Given the description of an element on the screen output the (x, y) to click on. 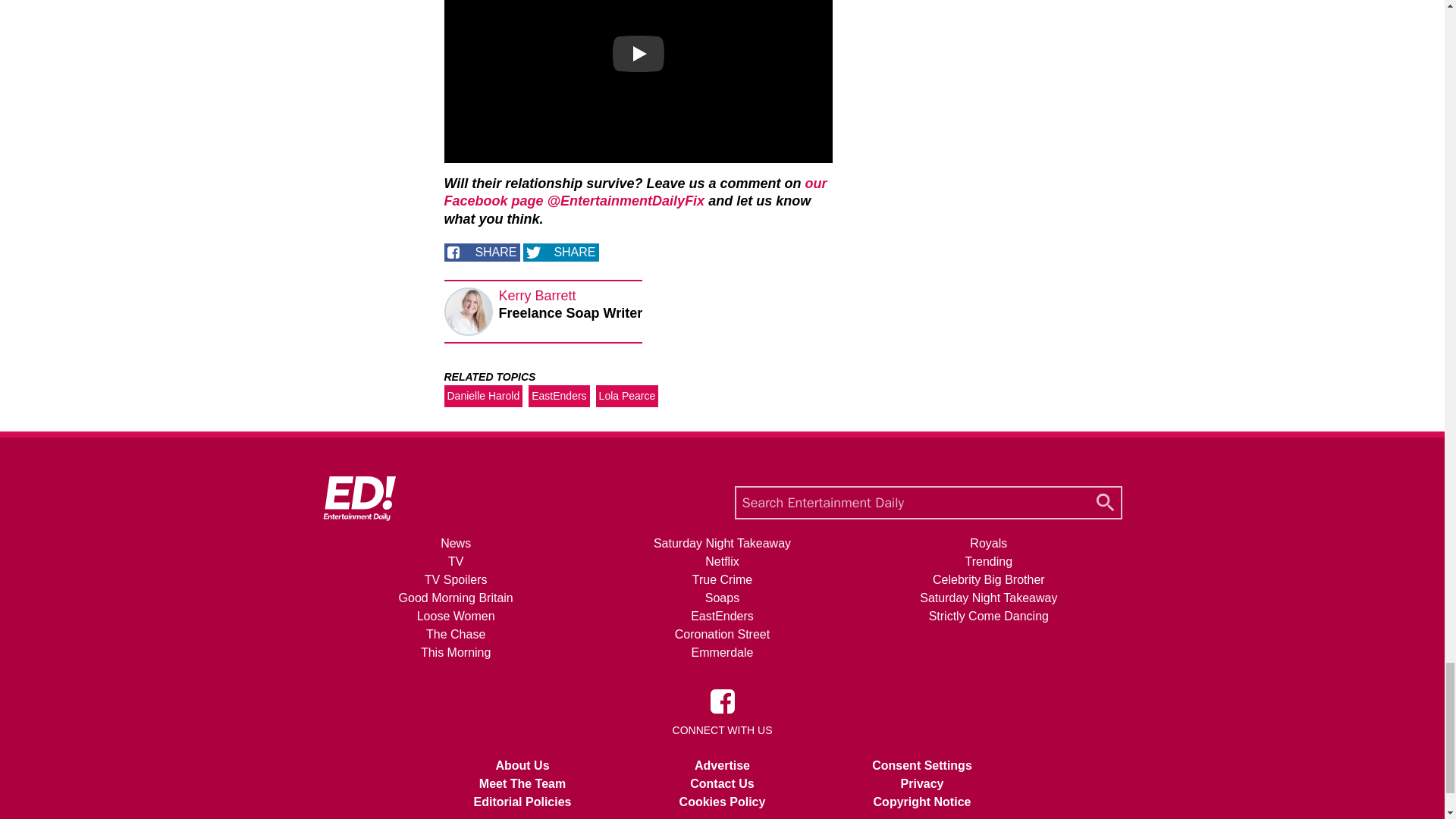
Play Video (637, 54)
SHARE (560, 252)
SHARE (481, 252)
